Given the description of an element on the screen output the (x, y) to click on. 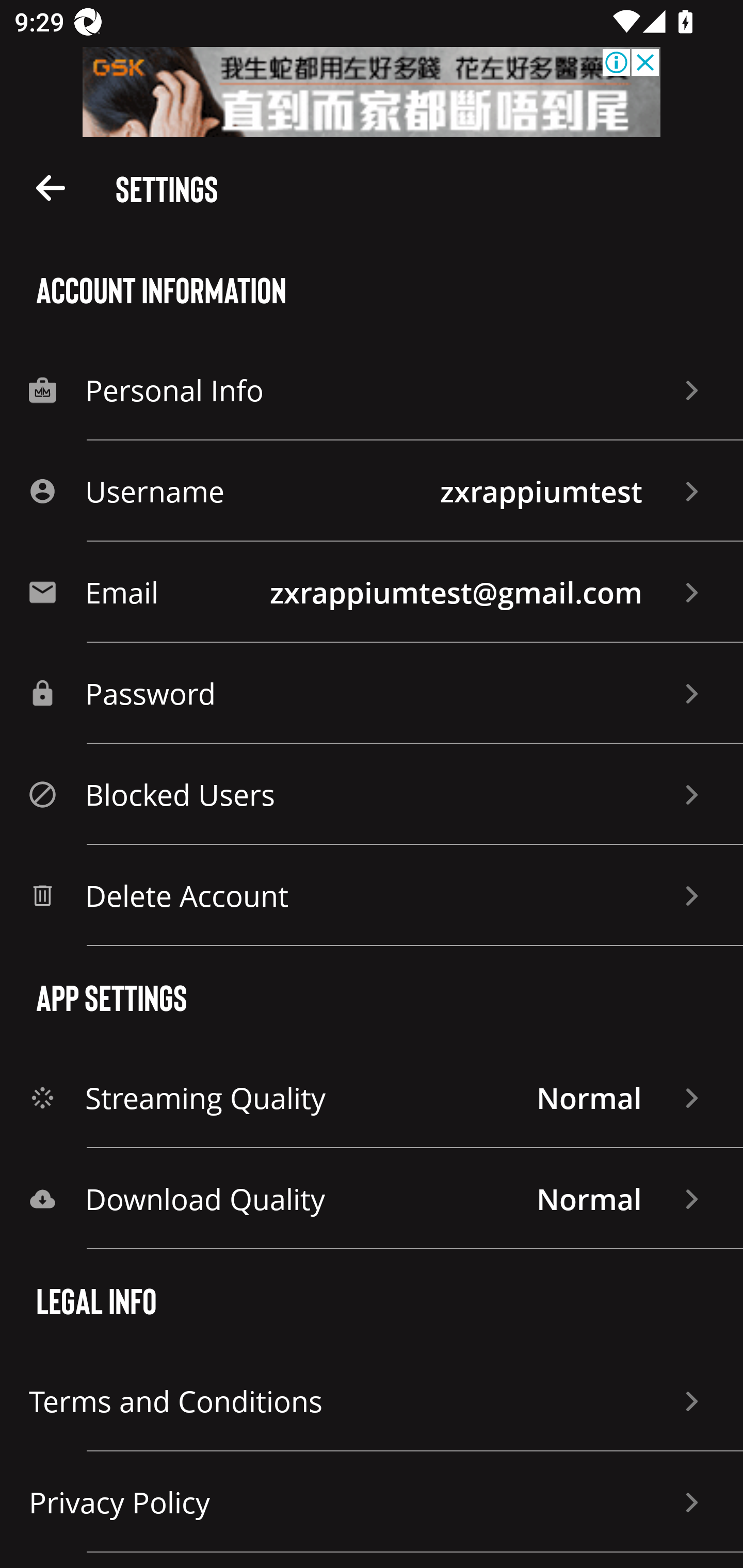
Advertisement (371, 92)
Description (50, 187)
Personal Info (371, 389)
Username zxrappiumtest (371, 490)
Email zxrappiumtest@gmail.com (371, 591)
Password (371, 692)
Blocked Users (371, 794)
Delete Account (371, 895)
Streaming Quality Normal (371, 1097)
Download Quality Normal (371, 1198)
Terms and Conditions (371, 1400)
Privacy Policy (371, 1501)
